Given the description of an element on the screen output the (x, y) to click on. 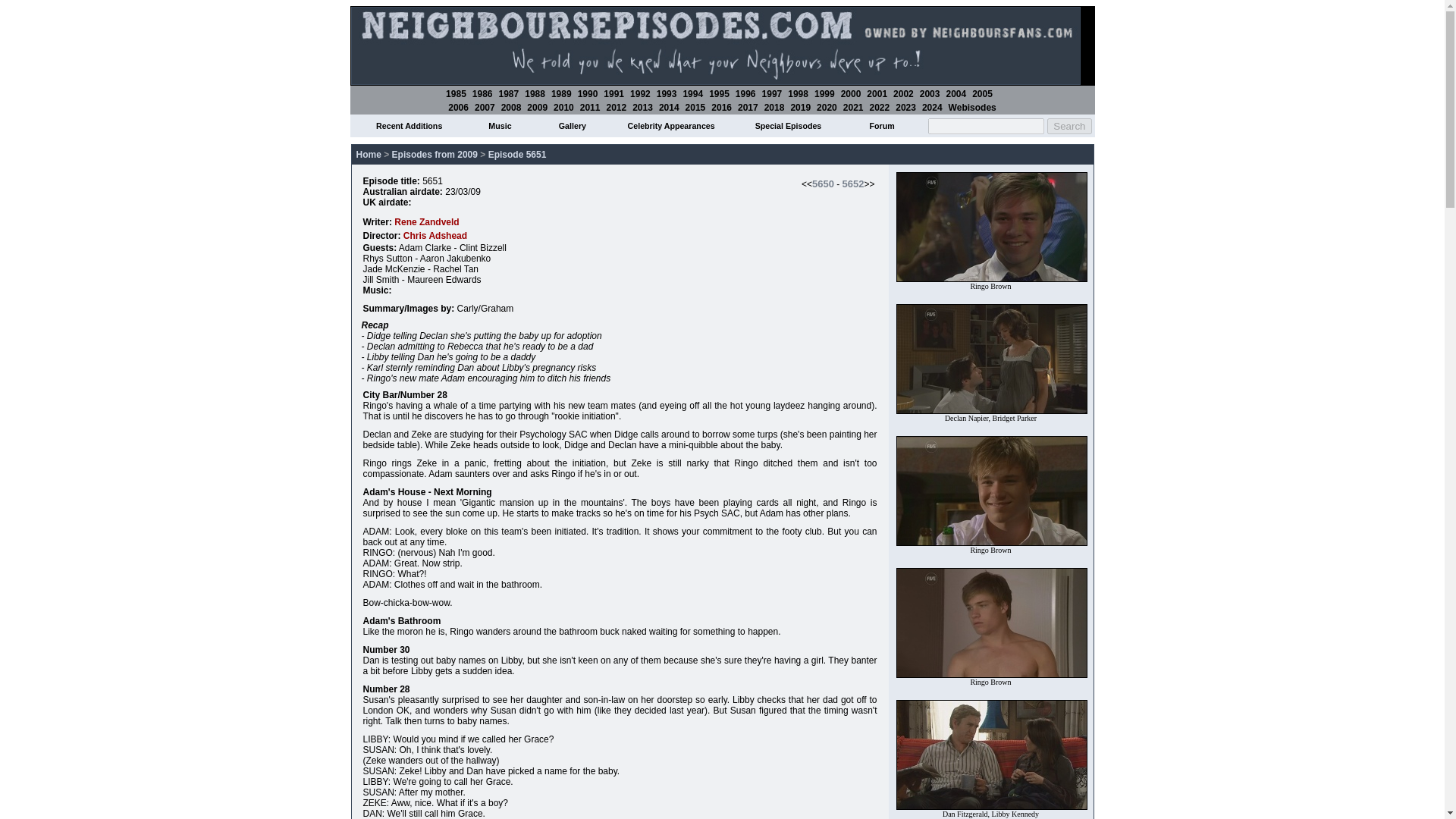
2007 (484, 107)
2013 (641, 107)
2002 (903, 93)
1998 (797, 93)
2018 (774, 107)
1995 (719, 93)
2021 (853, 107)
1989 (561, 93)
1992 (640, 93)
2011 (589, 107)
